Given the description of an element on the screen output the (x, y) to click on. 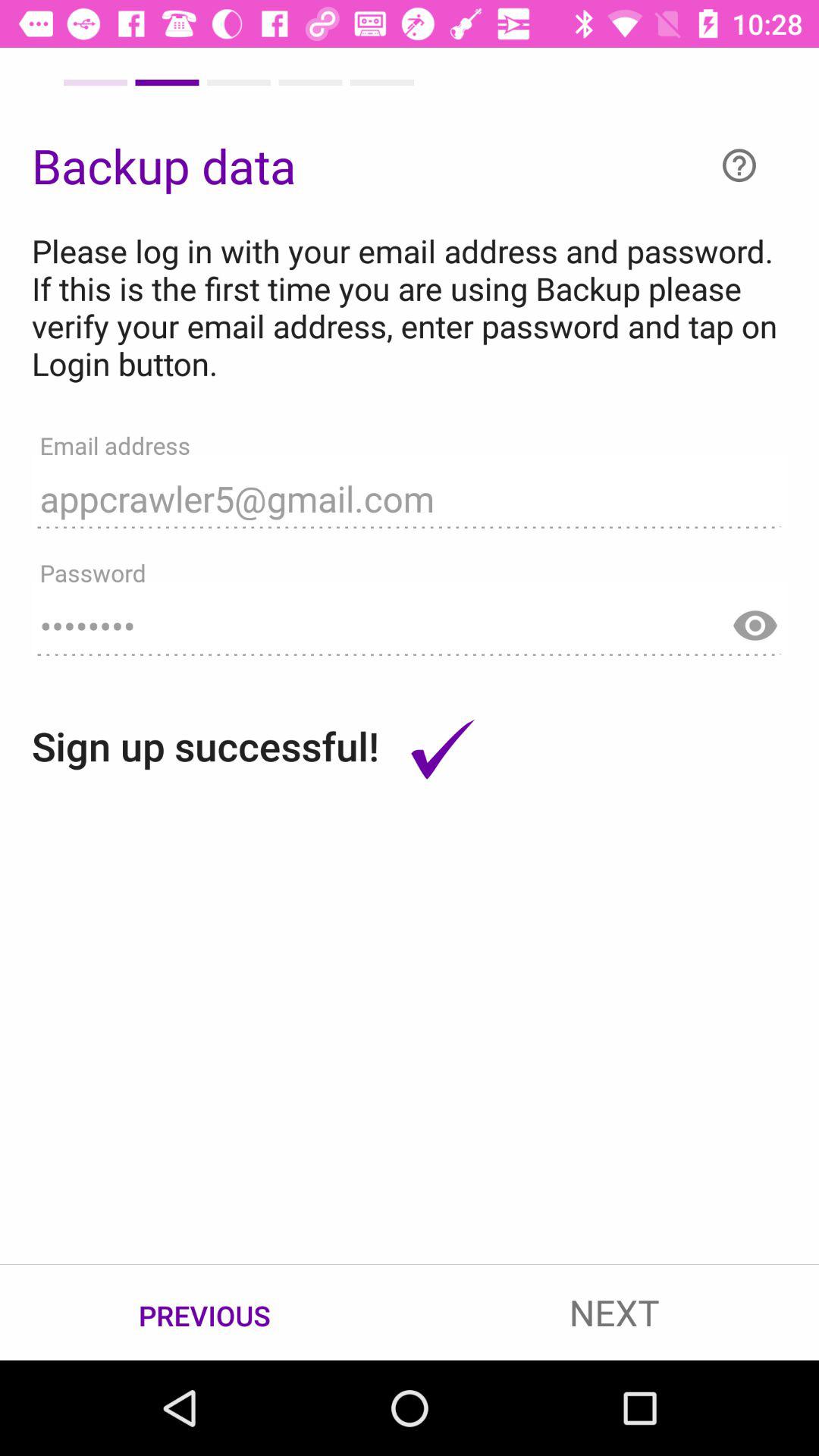
flip until the next icon (614, 1312)
